Given the description of an element on the screen output the (x, y) to click on. 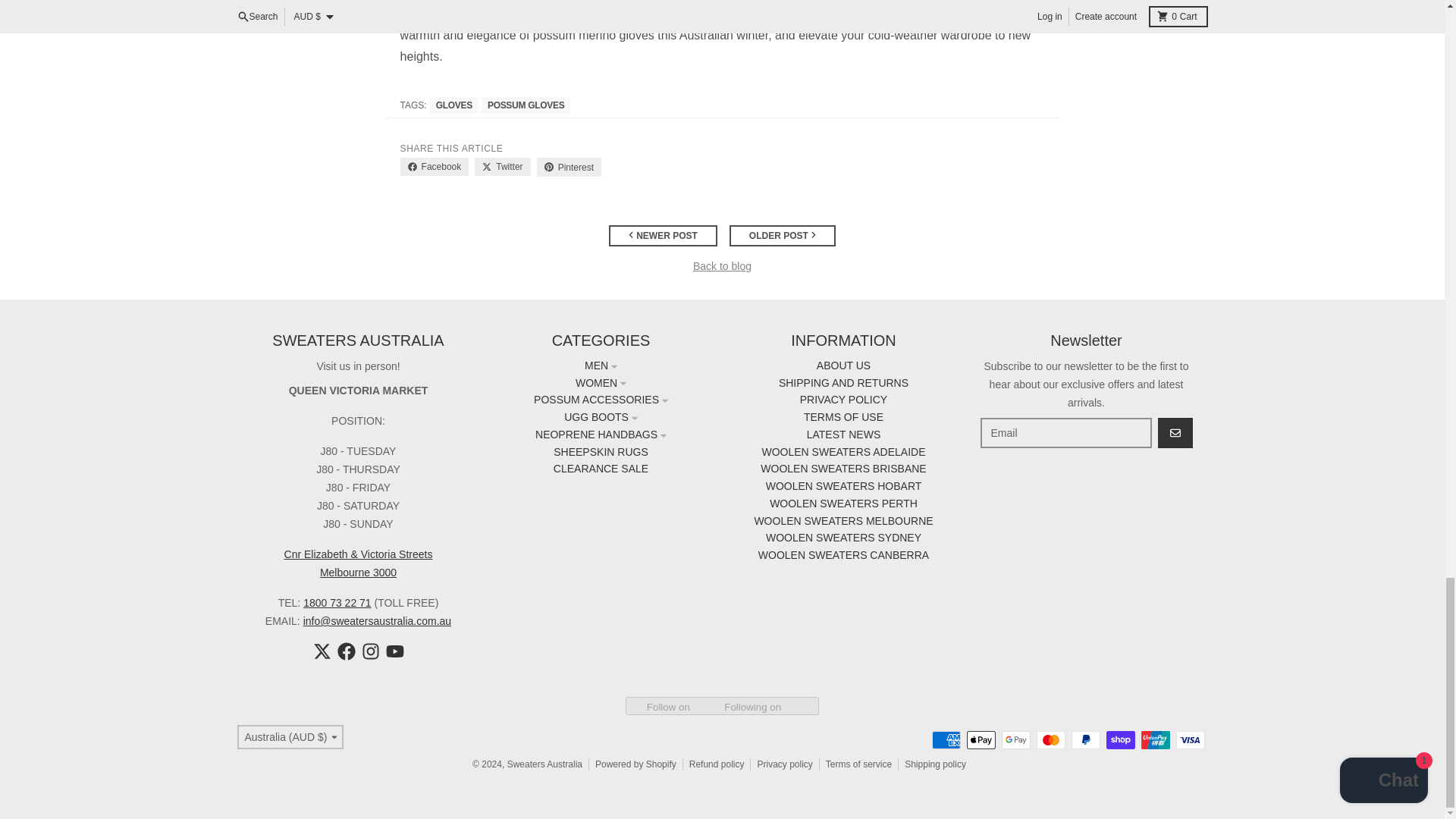
tel:1800732271 (336, 603)
YouTube - Sweaters Australia (394, 651)
Instagram - Sweaters Australia (369, 651)
Twitter - Sweaters Australia (321, 651)
Facebook - Sweaters Australia (345, 651)
